Given the description of an element on the screen output the (x, y) to click on. 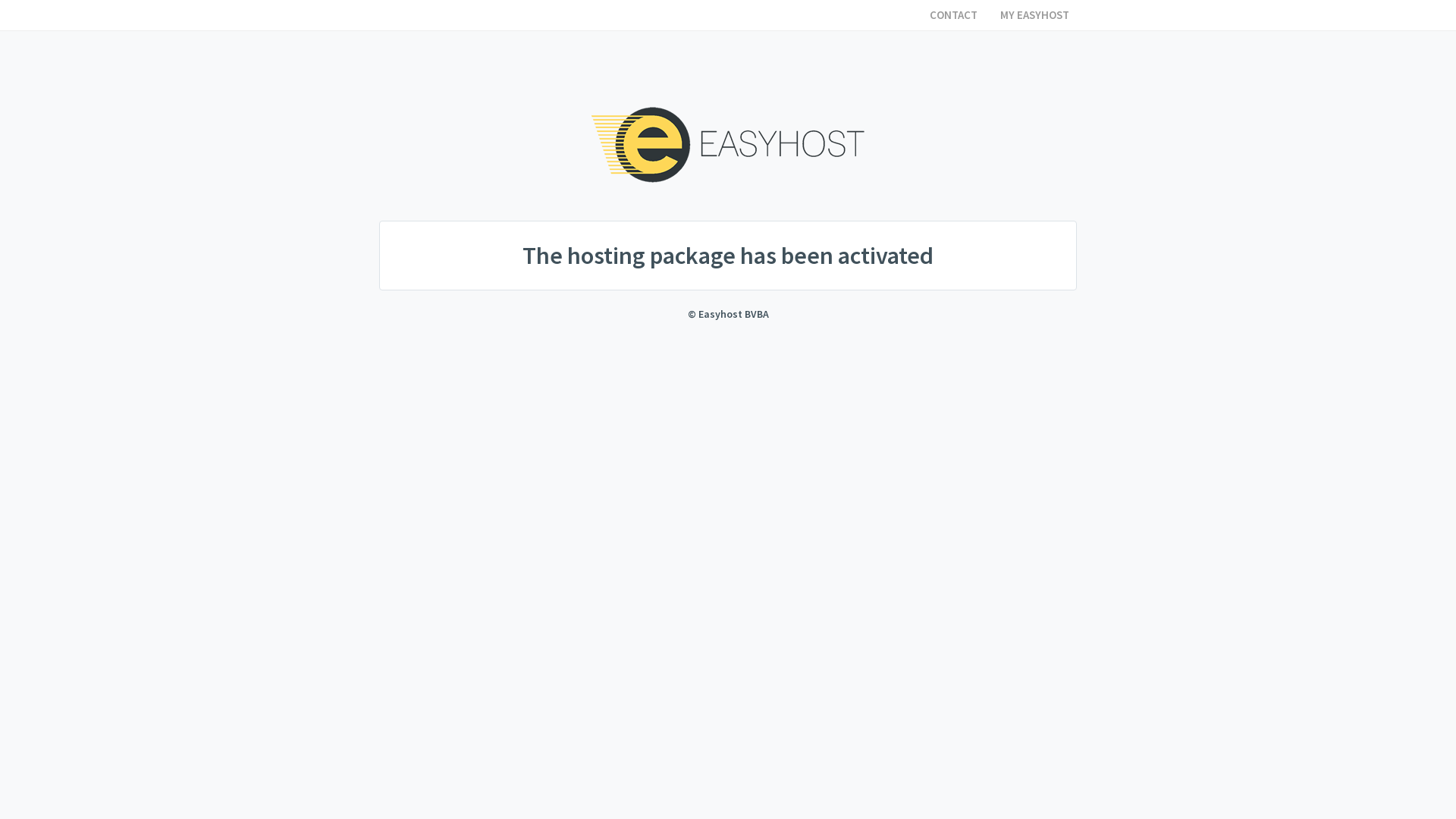
CONTACT Element type: text (953, 14)
MY EASYHOST Element type: text (1034, 14)
Easyhost Element type: text (727, 144)
